Given the description of an element on the screen output the (x, y) to click on. 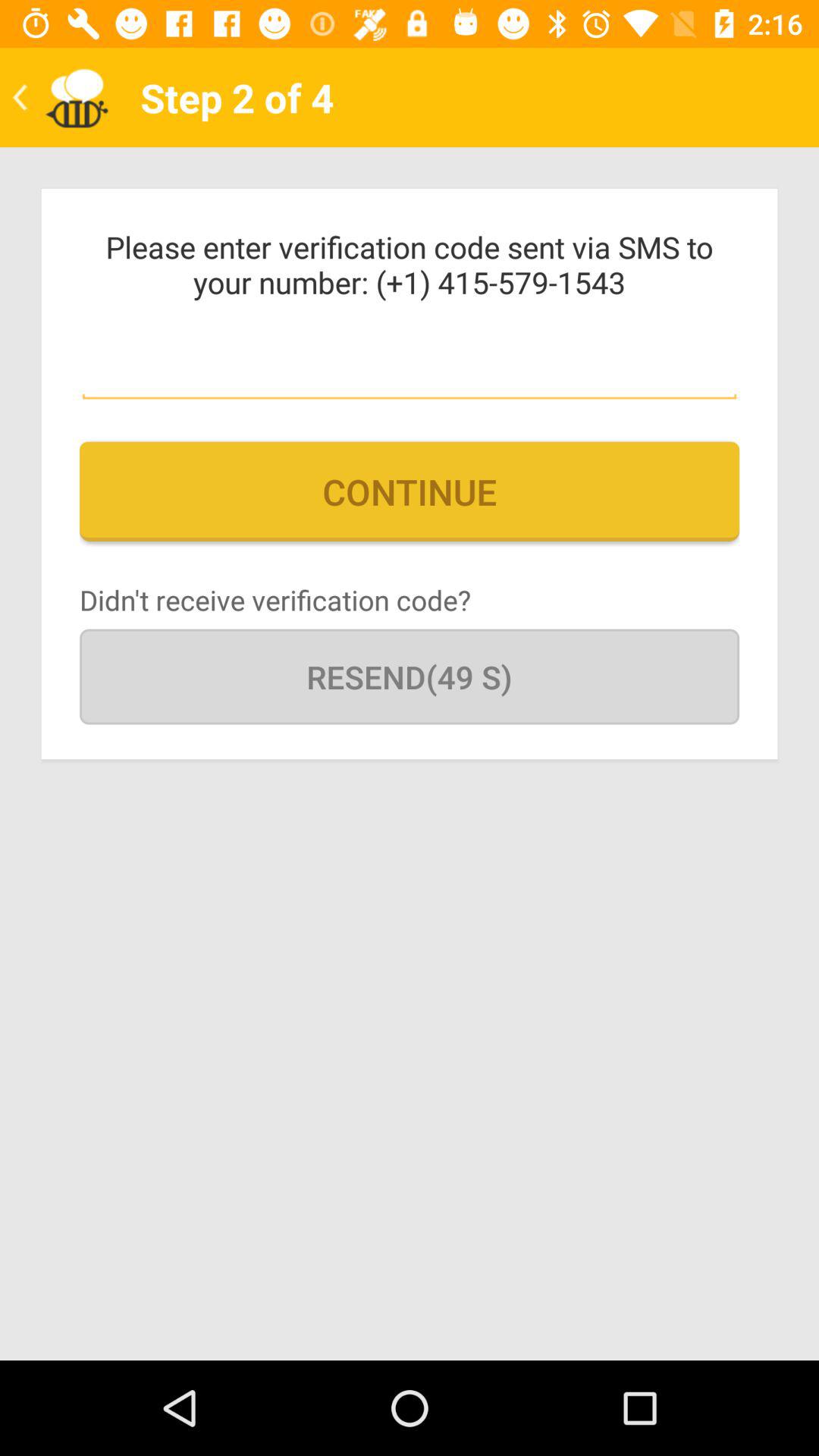
press item above didn t receive item (409, 491)
